Given the description of an element on the screen output the (x, y) to click on. 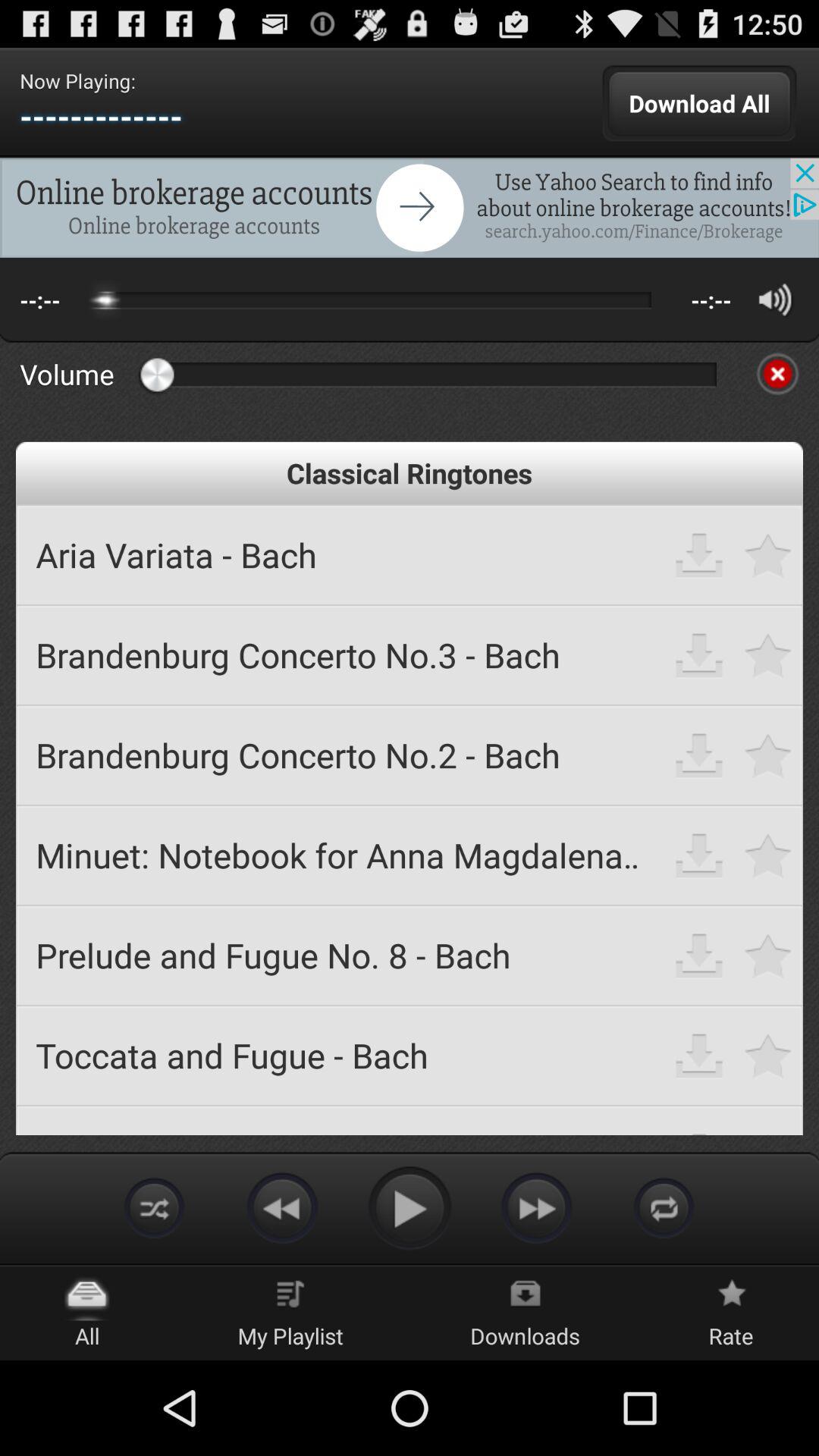
download ringtone (699, 1054)
